Given the description of an element on the screen output the (x, y) to click on. 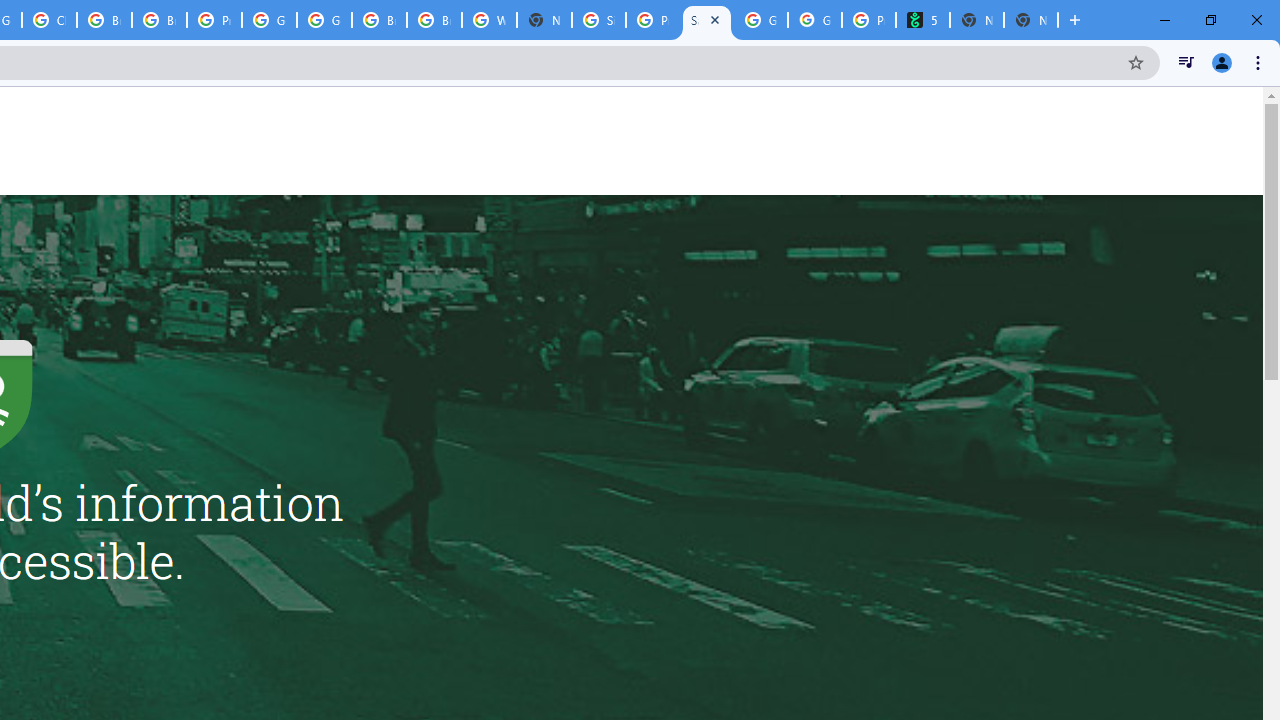
Google Cloud Platform (324, 20)
New Tab (544, 20)
Google Cloud Platform (268, 20)
